Given the description of an element on the screen output the (x, y) to click on. 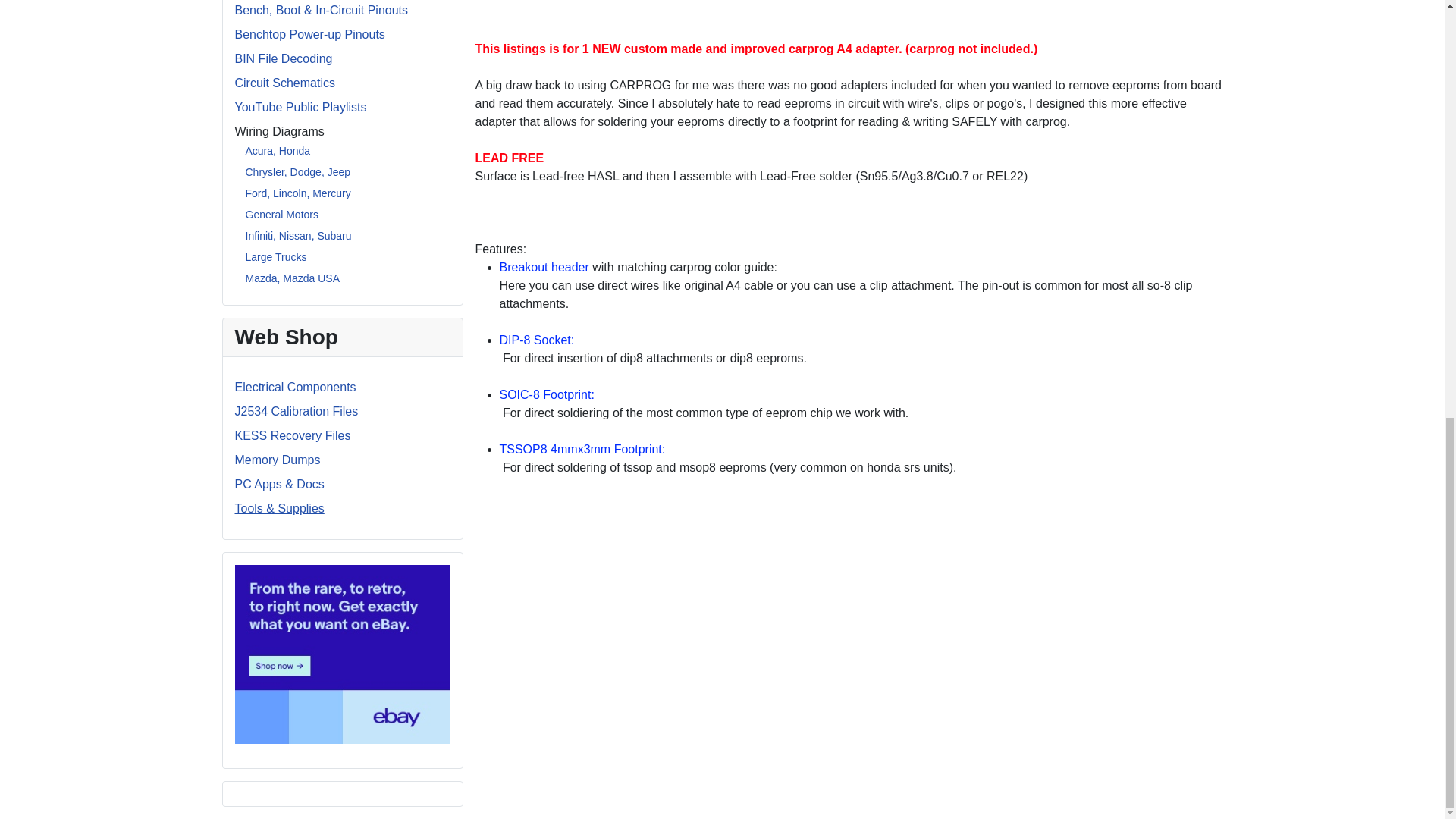
Acura, Honda (278, 150)
Ford, Lincoln, Mercury (298, 193)
CARPROG adapter A4 PLUS direct solder for eeprom (662, 16)
KESS Recovery Files (292, 435)
Electrical Components (295, 386)
General Motors (282, 214)
J2534 Calibration Files (296, 410)
Infiniti, Nissan, Subaru (299, 235)
Chrysler, Dodge, Jeep (298, 172)
Circuit Schematics (284, 82)
